Given the description of an element on the screen output the (x, y) to click on. 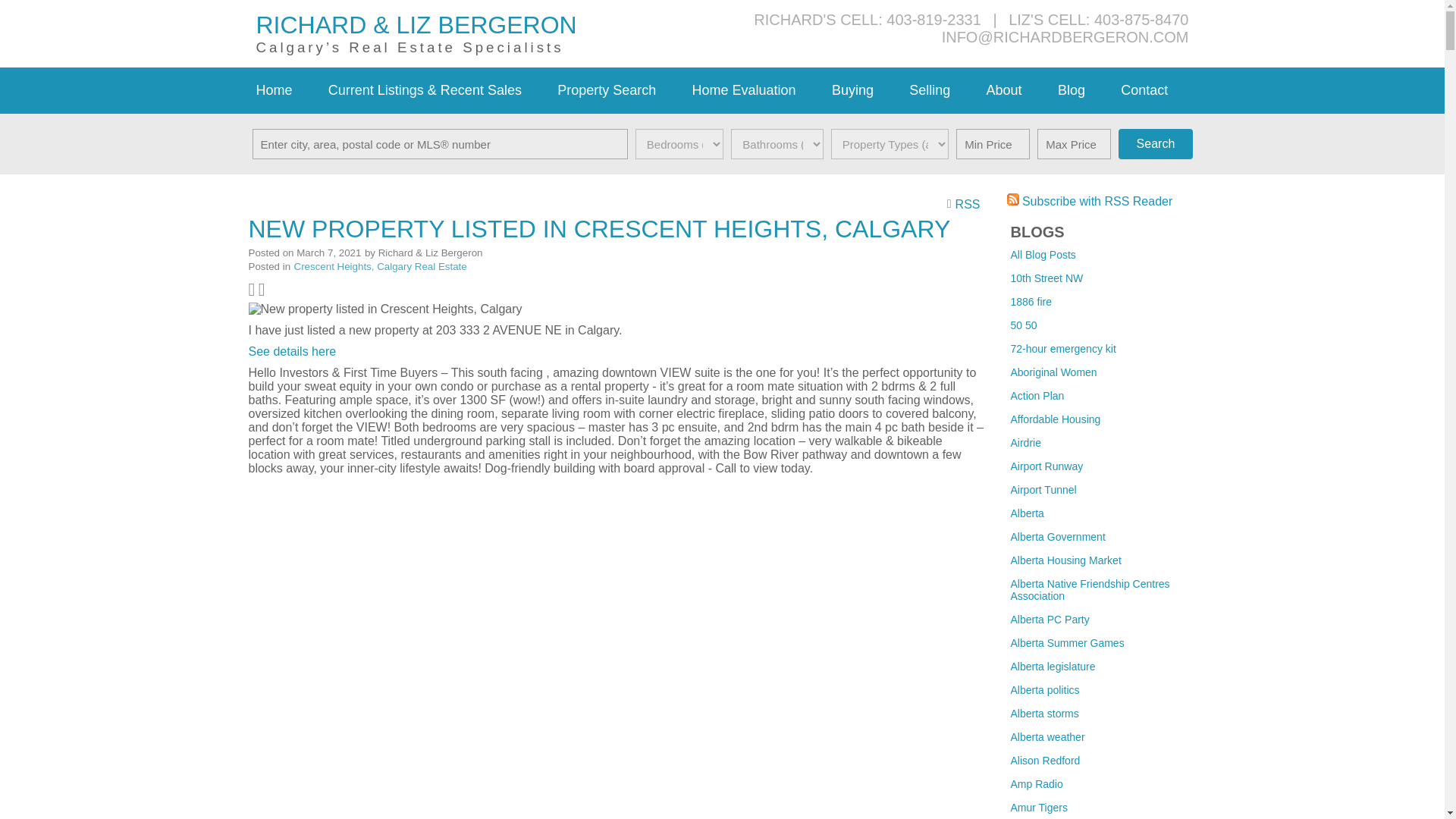
Blog (1081, 90)
Home Evaluation (754, 90)
Buying (862, 90)
Contact (1154, 90)
Selling (939, 90)
Subscribe with RSS Reader (1090, 201)
Home (284, 90)
About (1013, 90)
Property Search (617, 90)
Search (1155, 143)
